Given the description of an element on the screen output the (x, y) to click on. 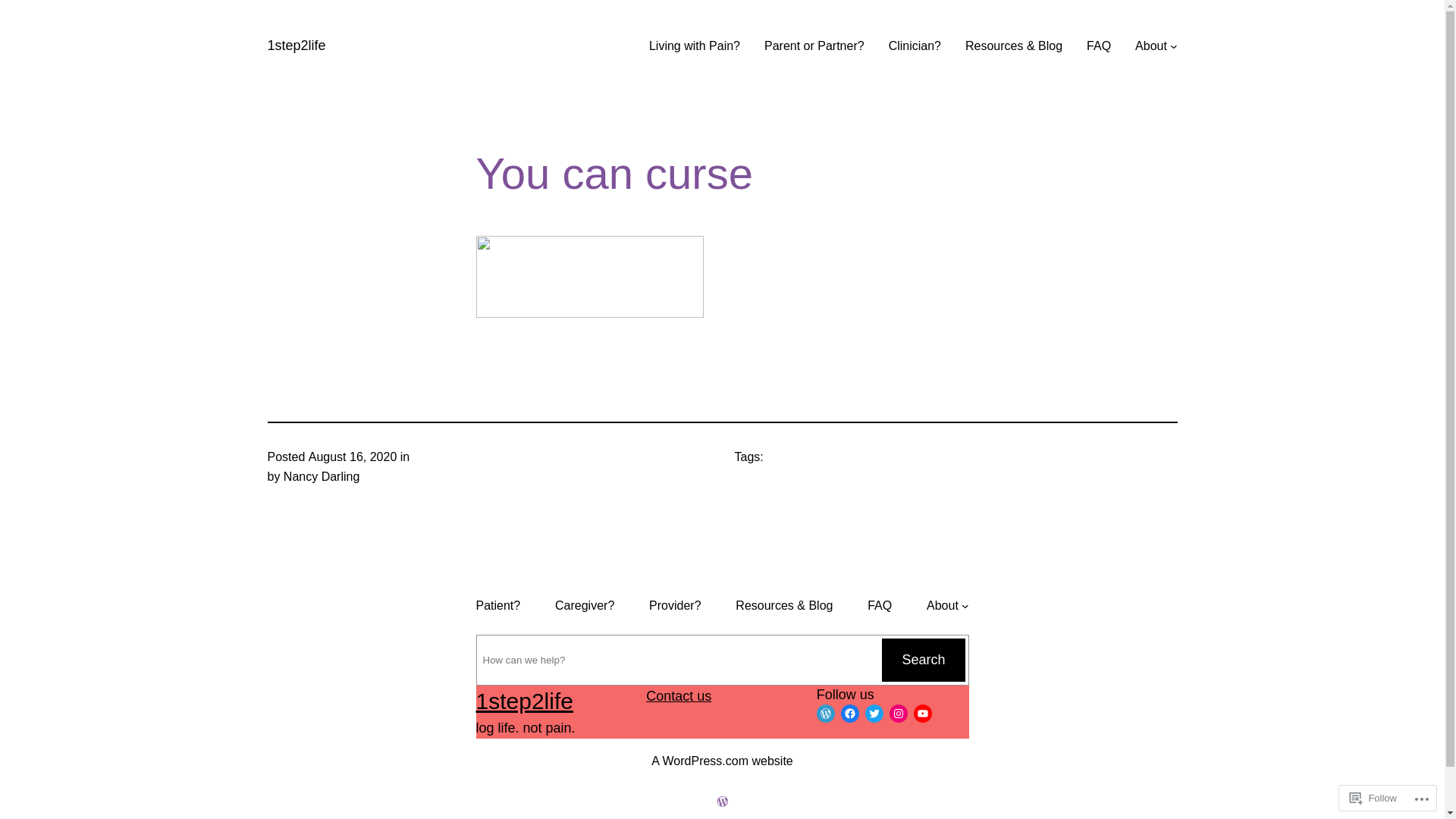
Provider? Element type: text (674, 605)
Resources & Blog Element type: text (1013, 46)
Patient? Element type: text (498, 605)
Create a website or blog at WordPress.com Element type: text (722, 801)
Resources & Blog Element type: text (783, 605)
About Element type: text (947, 605)
Follow Element type: text (1372, 797)
Caregiver? Element type: text (584, 605)
Search Element type: text (922, 659)
Living with Pain? Element type: text (694, 46)
FAQ Element type: text (1098, 46)
1step2life Element type: text (524, 700)
FAQ Element type: text (879, 605)
1step2life Element type: text (295, 45)
Clinician? Element type: text (914, 46)
About Element type: text (1151, 46)
Parent or Partner? Element type: text (814, 46)
Contact us Element type: text (678, 695)
